Given the description of an element on the screen output the (x, y) to click on. 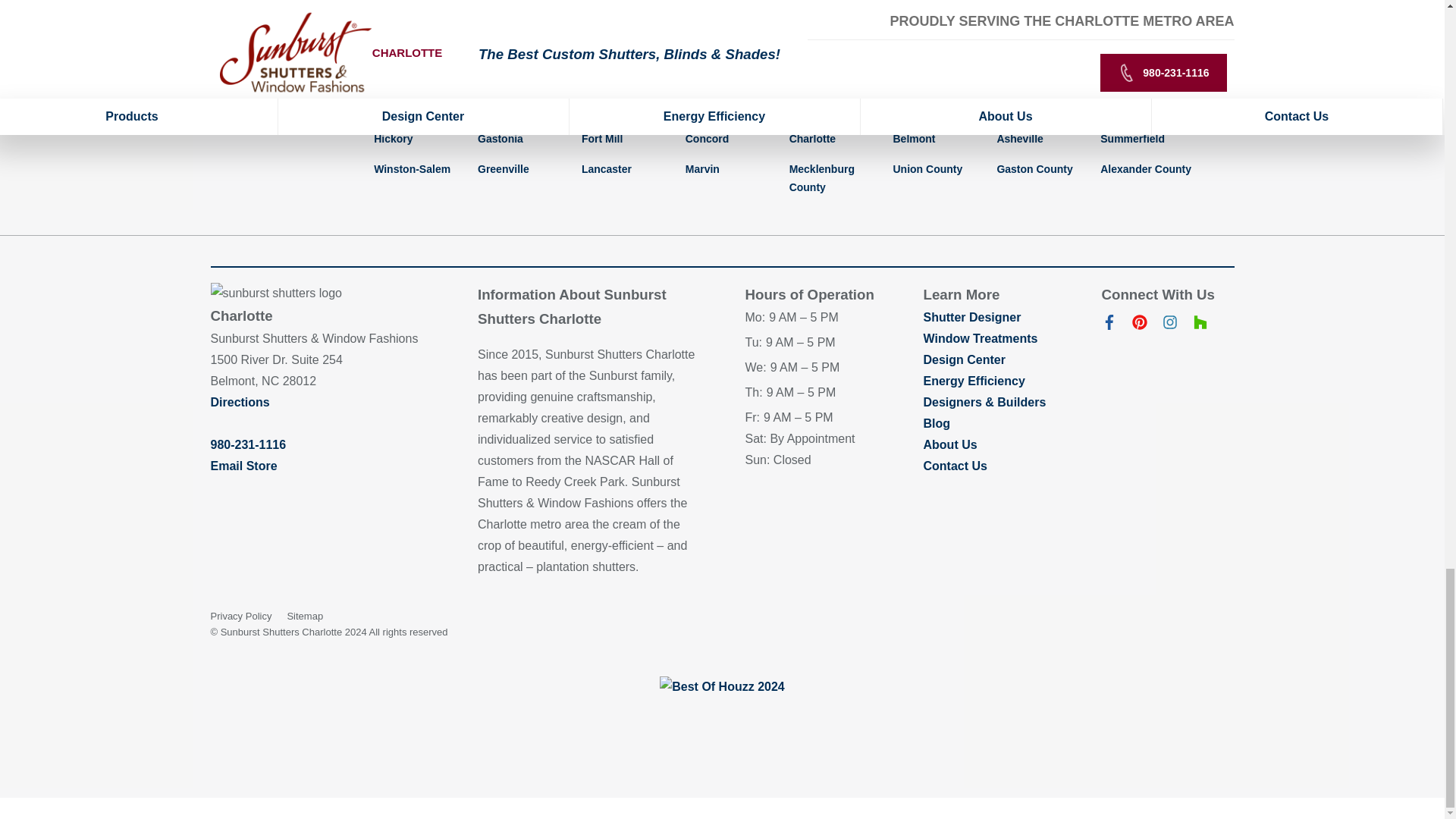
Follow us on Pinterest (1139, 325)
Follow us on Instagram (1168, 325)
Save us on Houzz (1199, 325)
Best Of Houzz 2024 (721, 686)
Like us on Facebook (1108, 325)
